Given the description of an element on the screen output the (x, y) to click on. 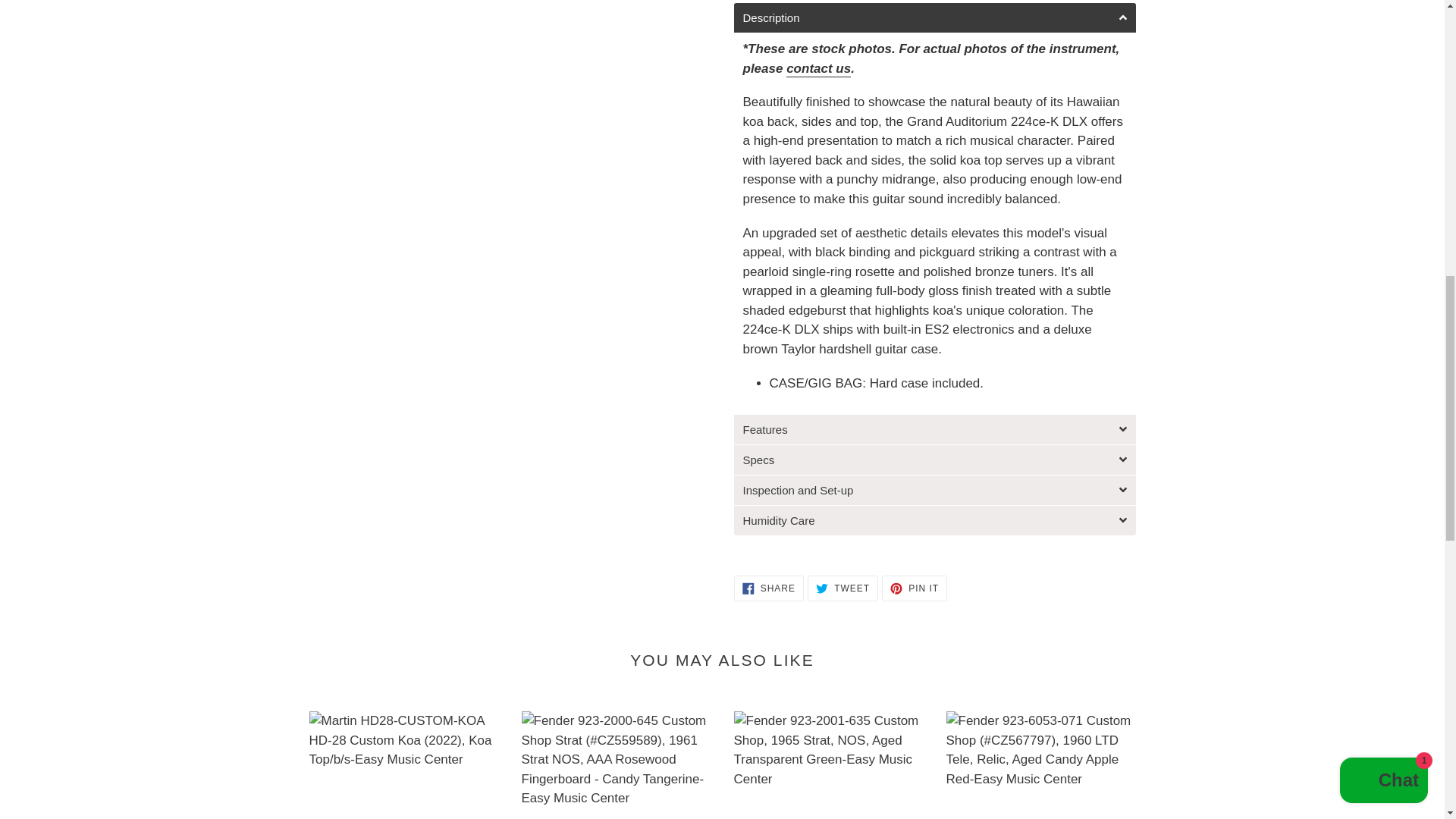
Easy Music Center Admin Email (818, 68)
